Given the description of an element on the screen output the (x, y) to click on. 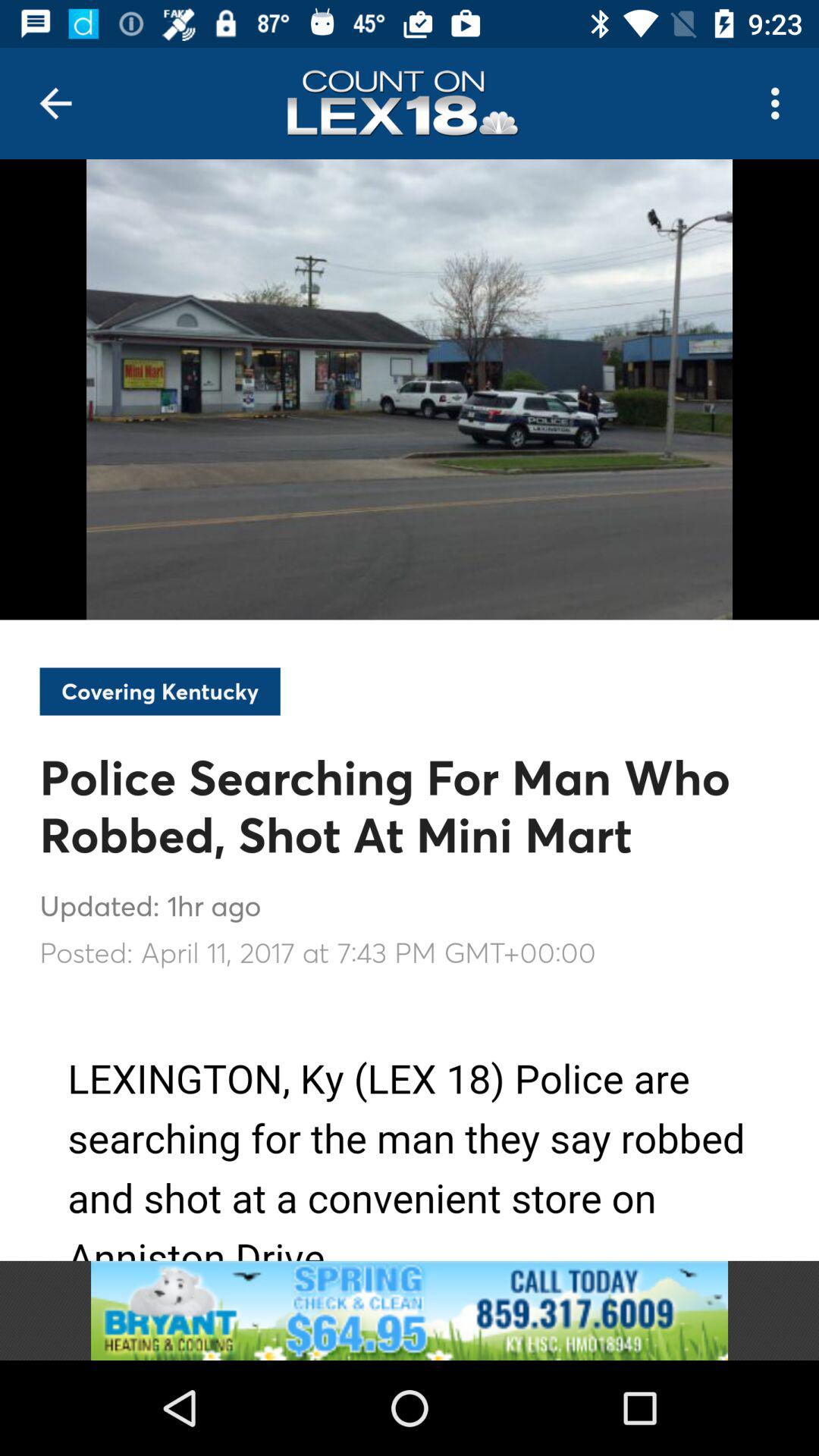
advertisement (409, 1310)
